Given the description of an element on the screen output the (x, y) to click on. 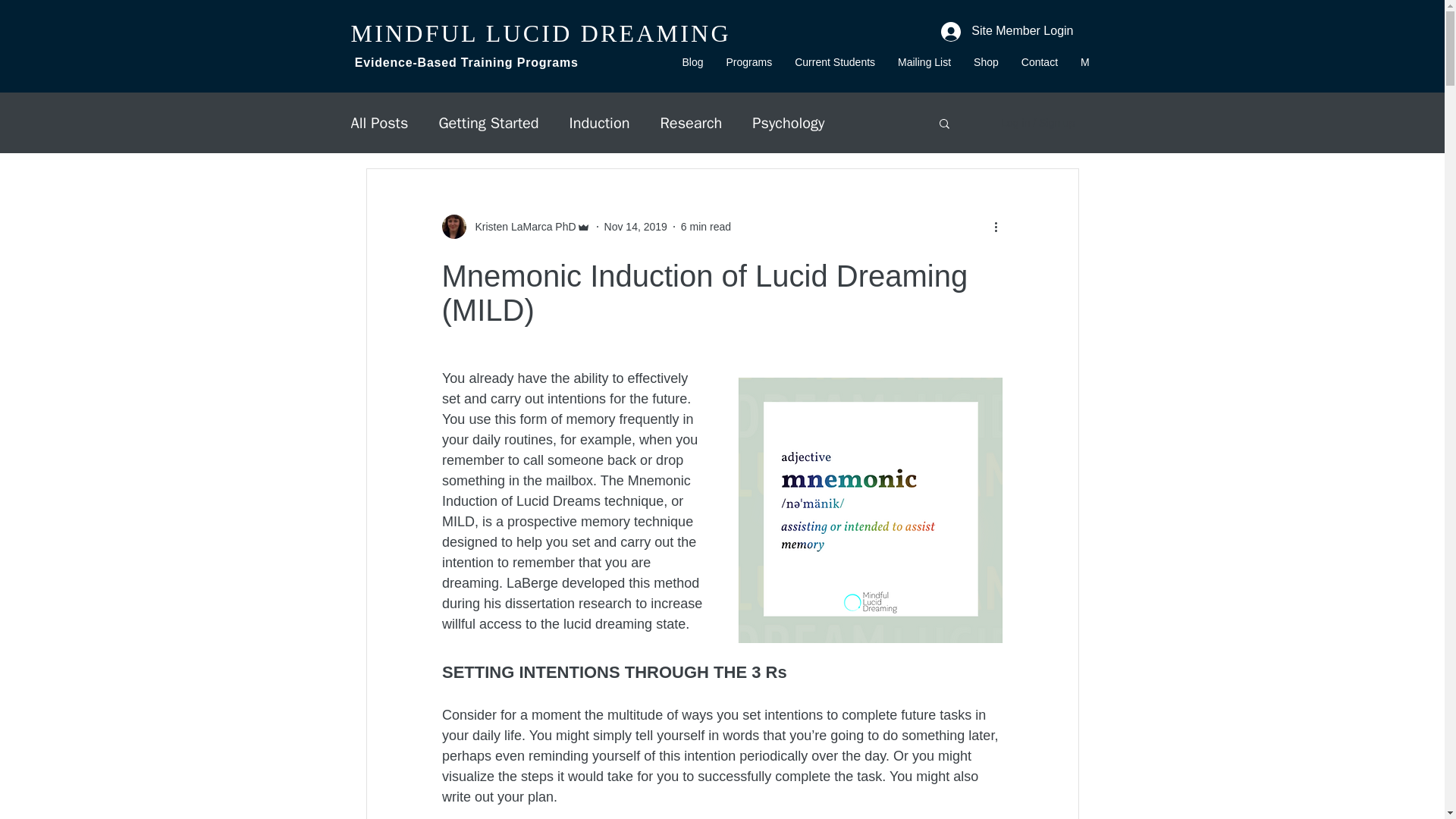
Research (690, 122)
Psychology (788, 122)
Kristen LaMarca PhD (520, 226)
Kristen LaMarca PhD (515, 226)
Shop (986, 65)
Mailing List (924, 65)
MINDFUL LUCID DREAMING (540, 32)
6 min read (705, 225)
Induction (599, 122)
Programs (749, 65)
